Given the description of an element on the screen output the (x, y) to click on. 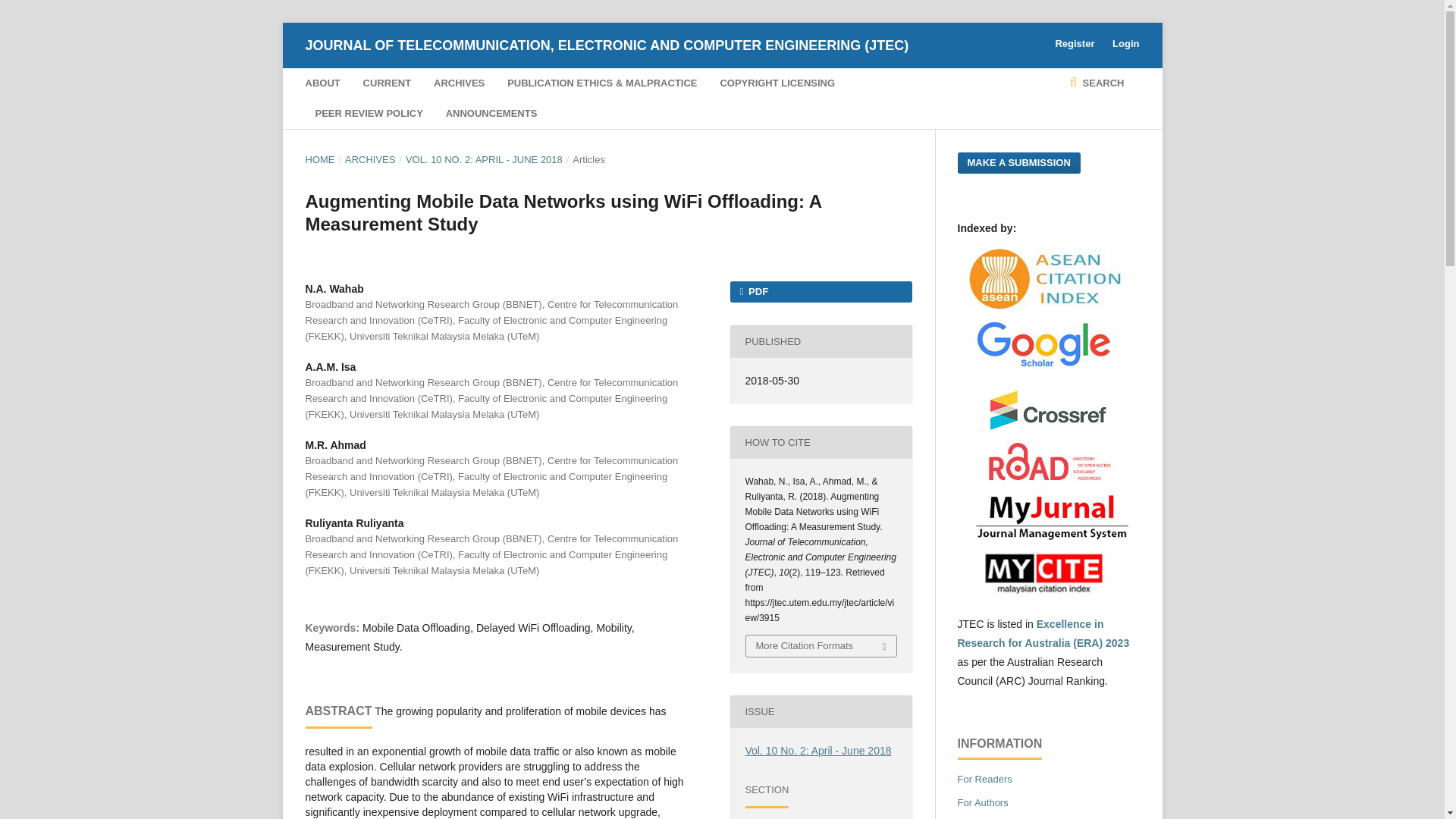
ANNOUNCEMENTS (491, 113)
SEARCH (1096, 82)
More Citation Formats (820, 645)
ARCHIVES (369, 159)
ABOUT (321, 82)
COPYRIGHT LICENSING (776, 82)
ARCHIVES (458, 82)
MYCite 2021 - JTEC (1047, 594)
HOME (319, 159)
CURRENT (387, 82)
Google Scholar - JTEC (1047, 366)
ROAD - JTEC (1047, 481)
PDF (820, 291)
Crossref (1048, 428)
MYJurnal - JTEC (1047, 536)
